Given the description of an element on the screen output the (x, y) to click on. 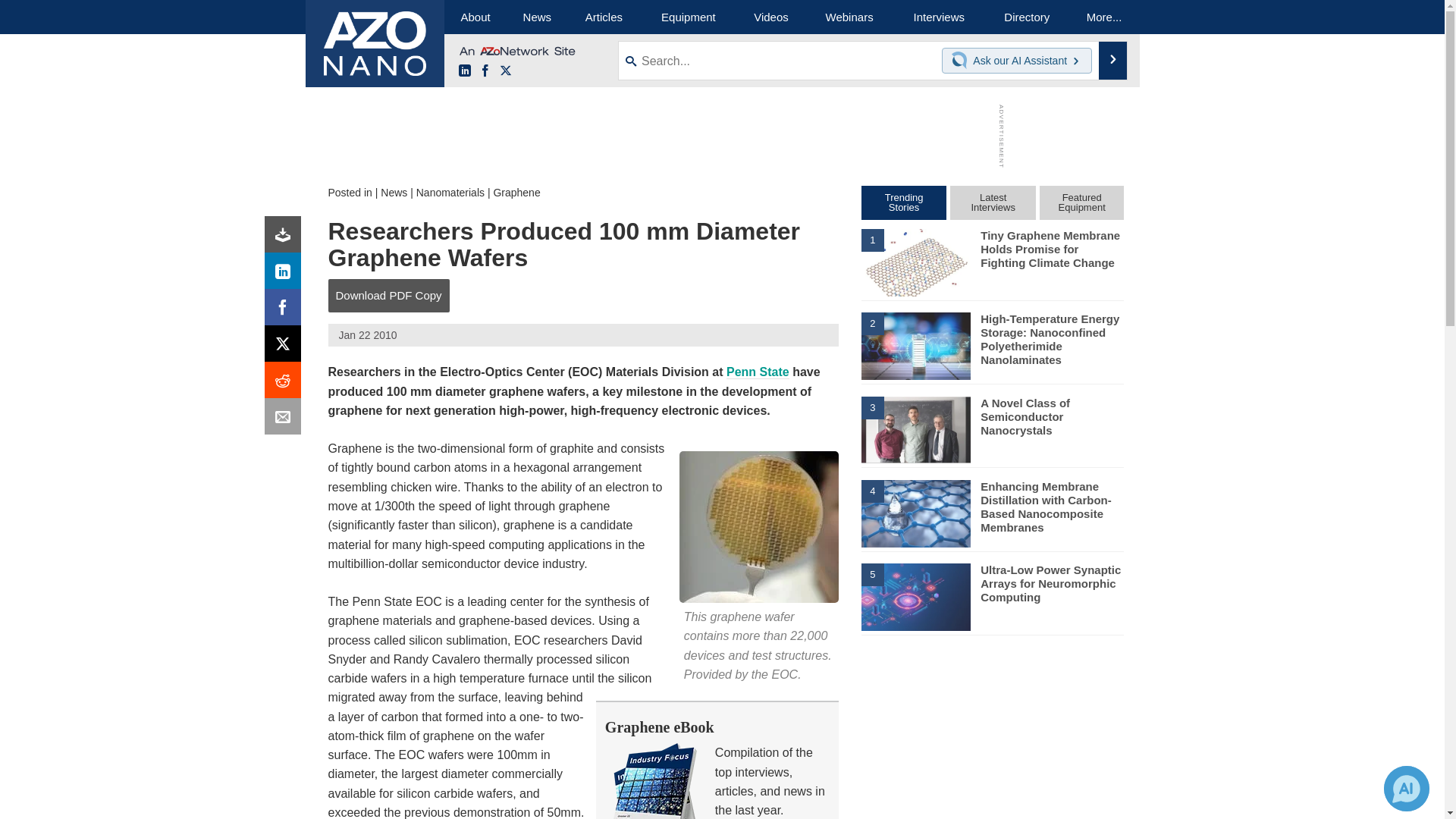
LinkedIn (285, 275)
X (505, 71)
News (536, 17)
Facebook (285, 311)
Nanomaterials (450, 192)
X (285, 348)
Directory (1026, 17)
About (475, 17)
Download PDF copy (285, 238)
Videos (770, 17)
